Given the description of an element on the screen output the (x, y) to click on. 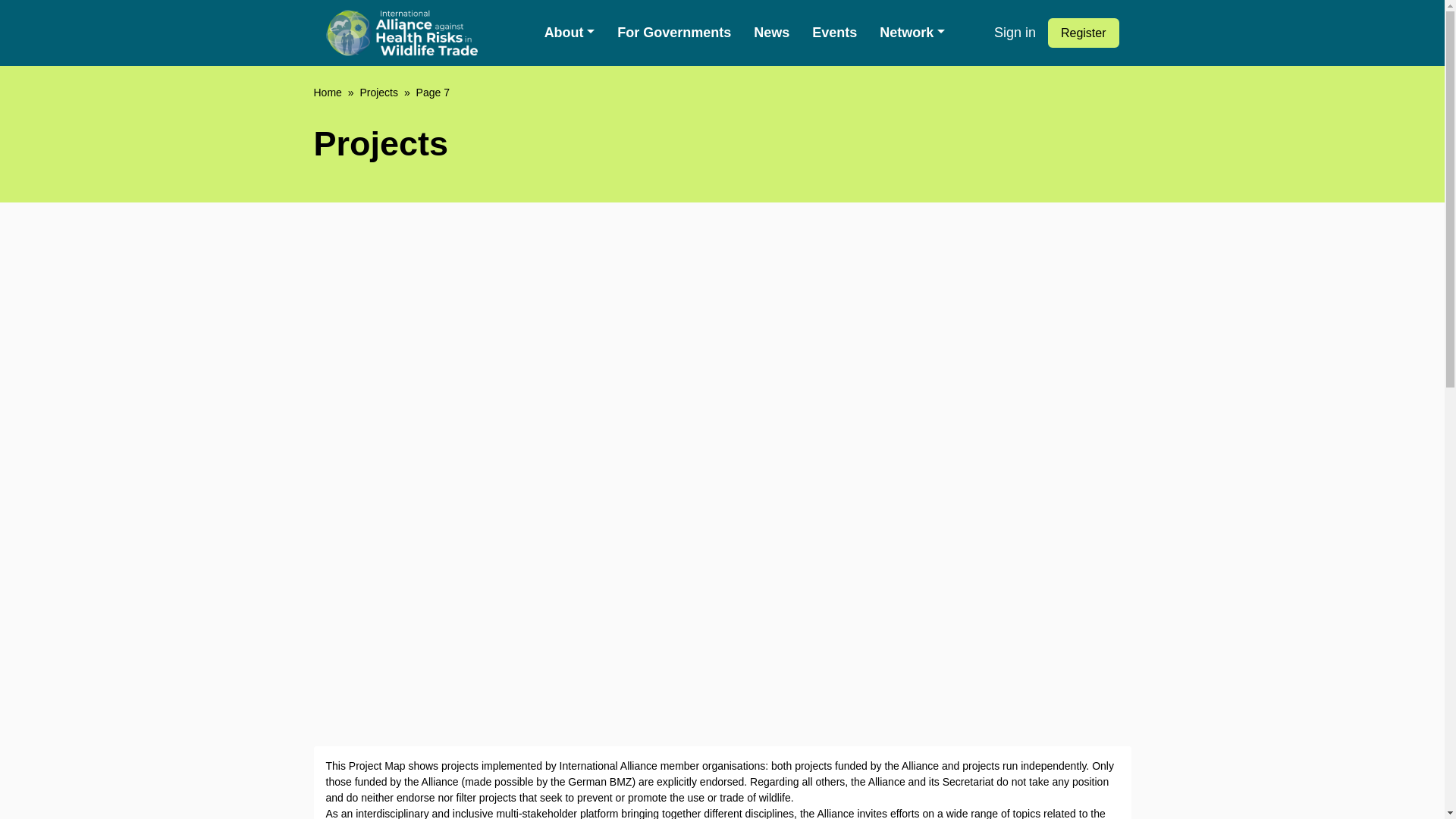
Network (911, 32)
Register (1083, 32)
Events (833, 32)
Home (328, 92)
About (569, 32)
For Governments (673, 32)
News (771, 32)
Projects (378, 92)
Sign in (1014, 32)
